Given the description of an element on the screen output the (x, y) to click on. 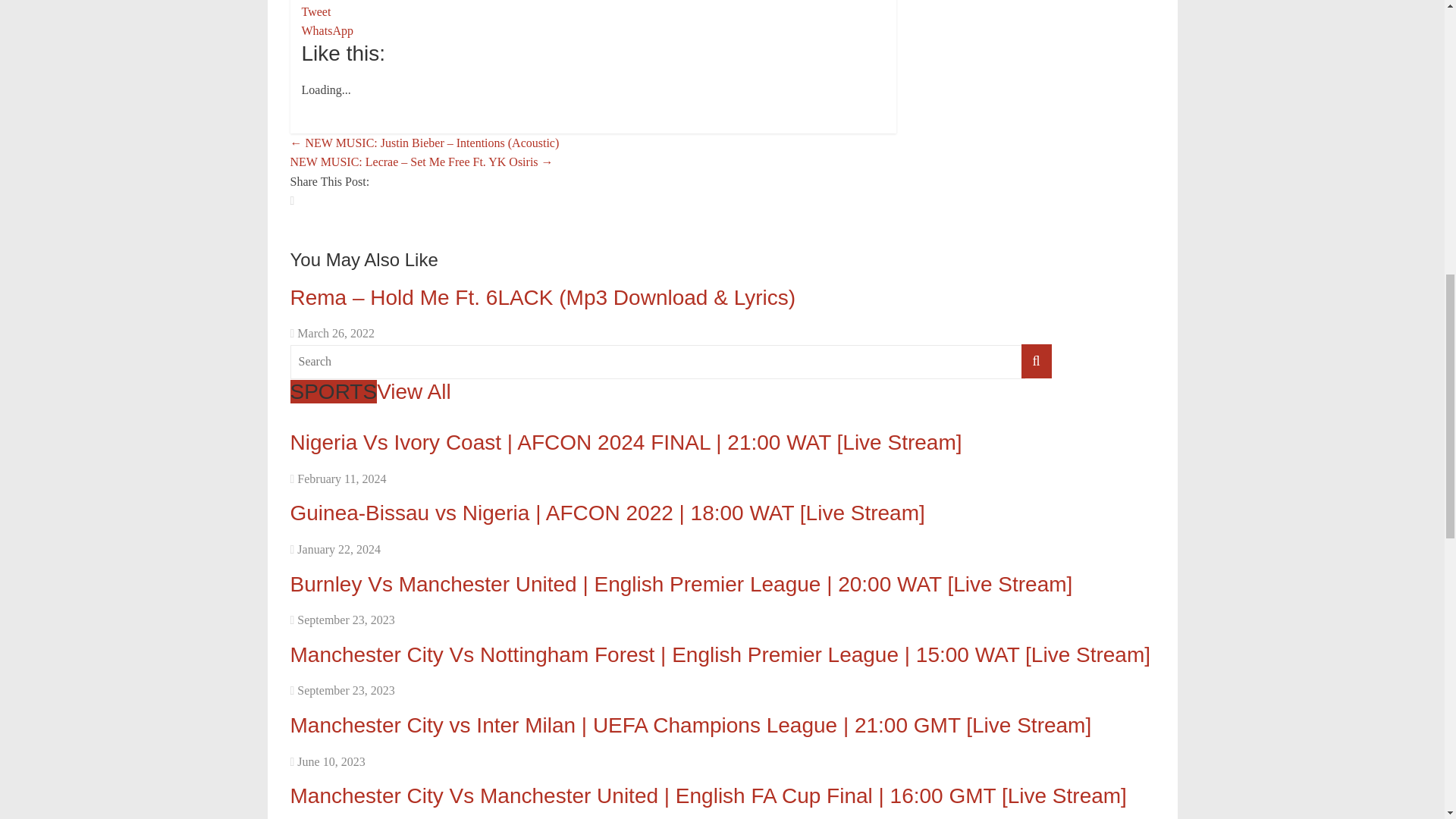
7:19 am (331, 332)
Click to share on WhatsApp (327, 30)
